Given the description of an element on the screen output the (x, y) to click on. 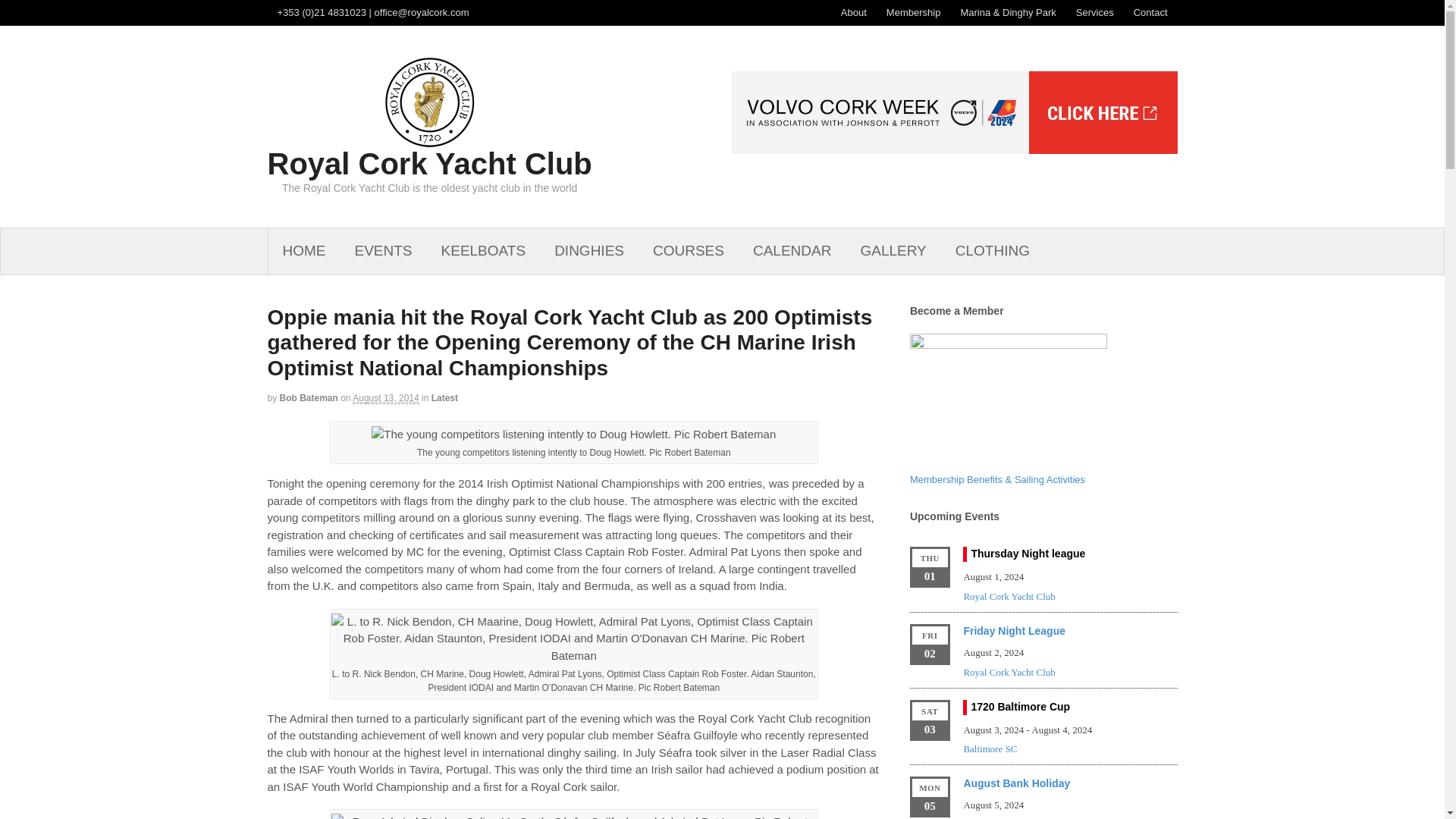
View all items in Latest (444, 398)
Services (1094, 12)
Royal Cork Yacht Club (428, 163)
About (853, 12)
HOME (303, 251)
Contact (1150, 12)
EVENTS (382, 251)
Posts by Bob Bateman (308, 398)
Membership (913, 12)
